Given the description of an element on the screen output the (x, y) to click on. 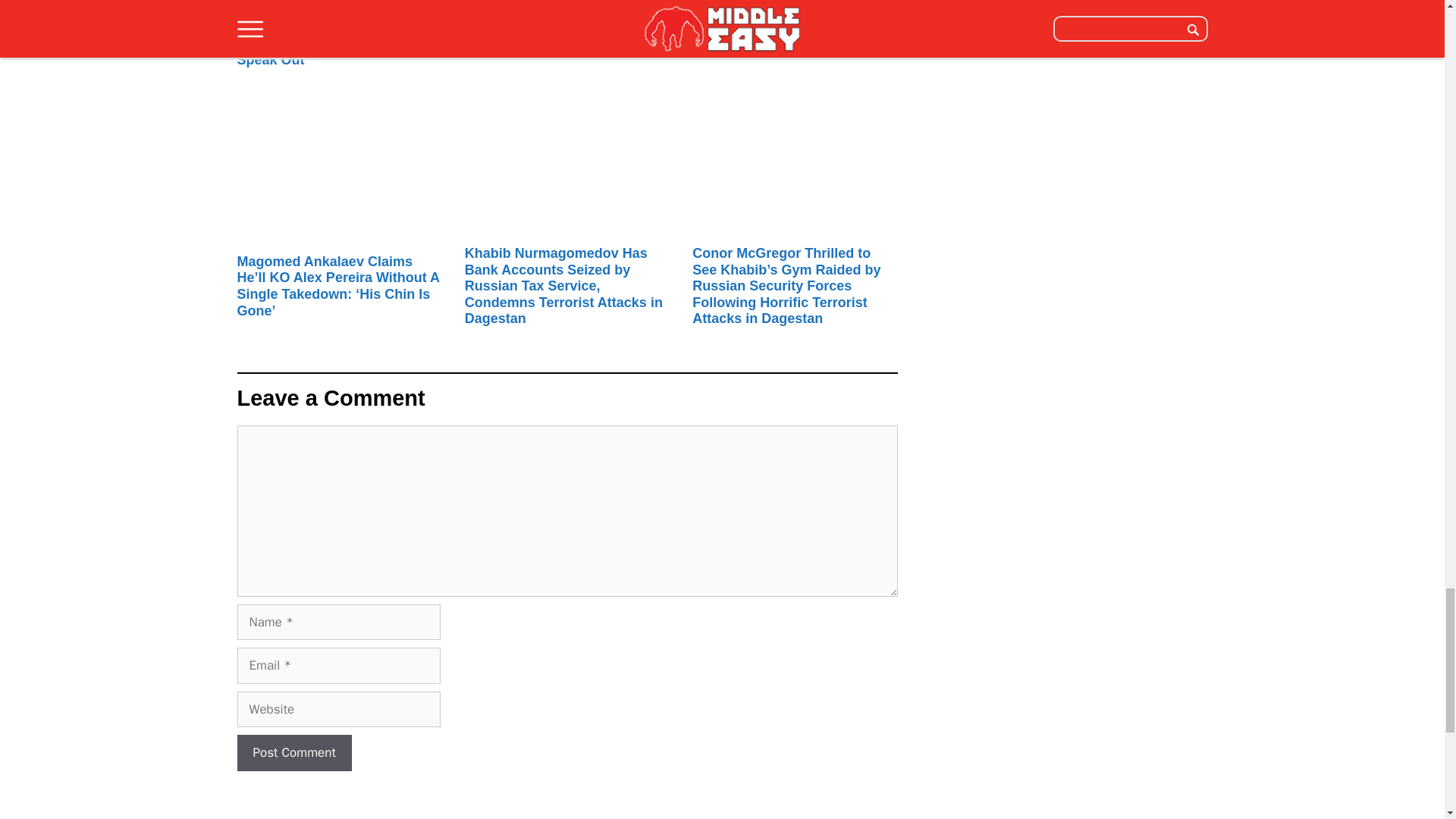
Post Comment (292, 752)
